Given the description of an element on the screen output the (x, y) to click on. 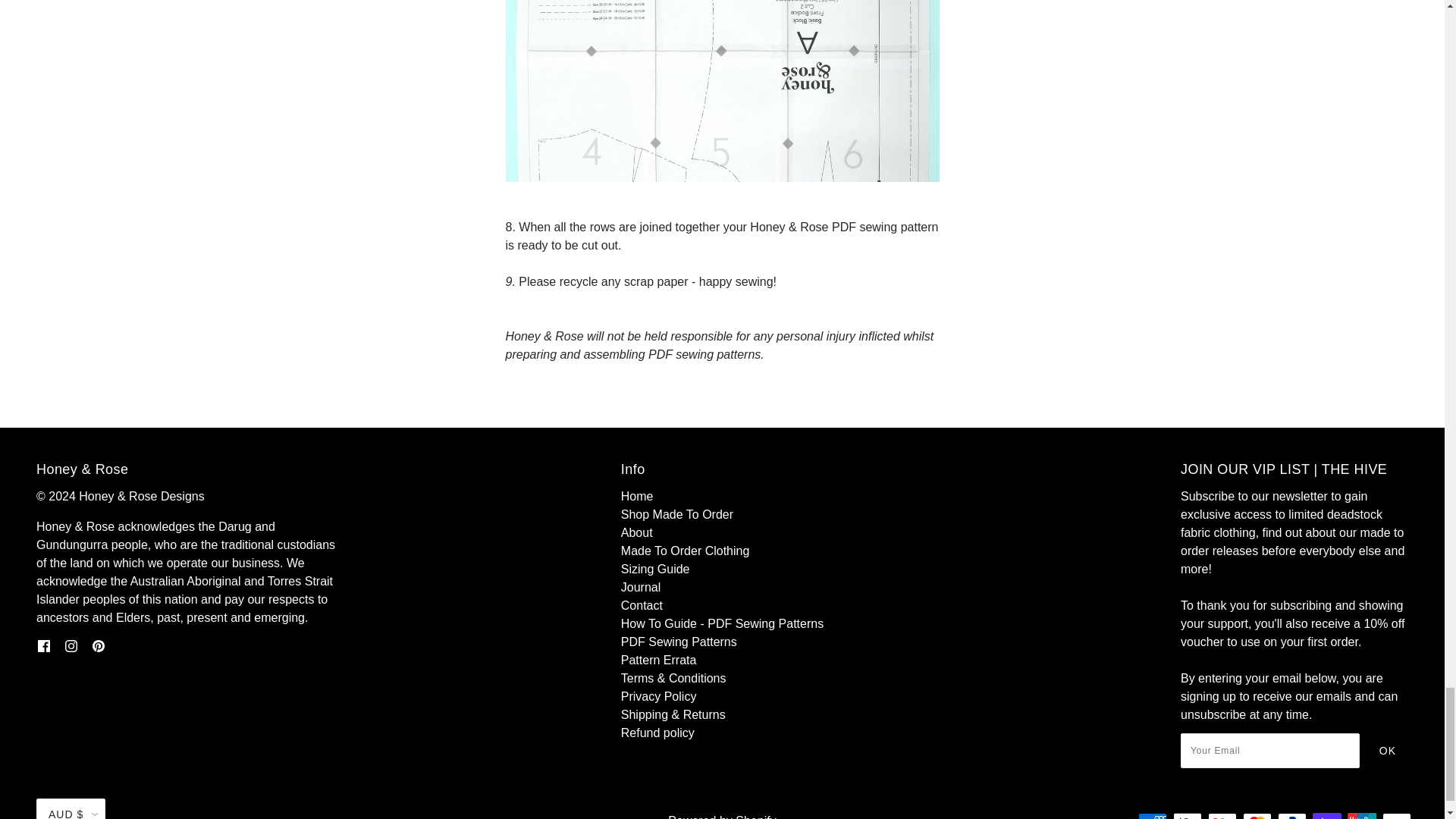
Home (637, 495)
Apple Pay (1187, 816)
About (636, 532)
Journal (641, 586)
Sizing Guide (655, 568)
Shop Made To Order (677, 513)
How To Guide - PDF Sewing Patterns  (722, 623)
PayPal (1292, 816)
Visa (1395, 816)
Privacy Policy (659, 696)
Union Pay (1361, 816)
Refund policy (657, 732)
Pattern Errata (659, 659)
Contact (641, 604)
Google Pay (1222, 816)
